Given the description of an element on the screen output the (x, y) to click on. 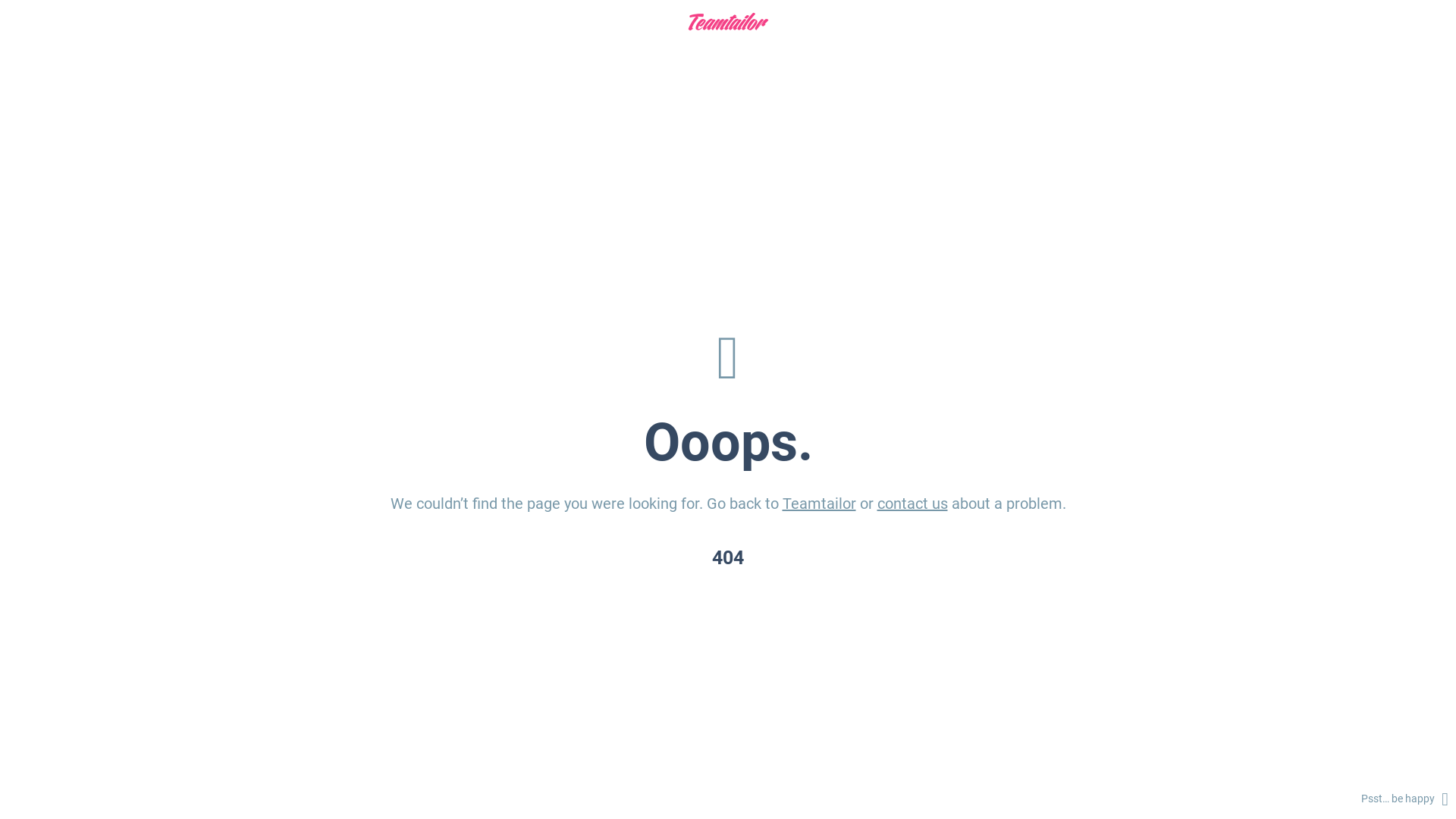
Teamtailor Element type: text (819, 503)
contact us Element type: text (911, 503)
